Given the description of an element on the screen output the (x, y) to click on. 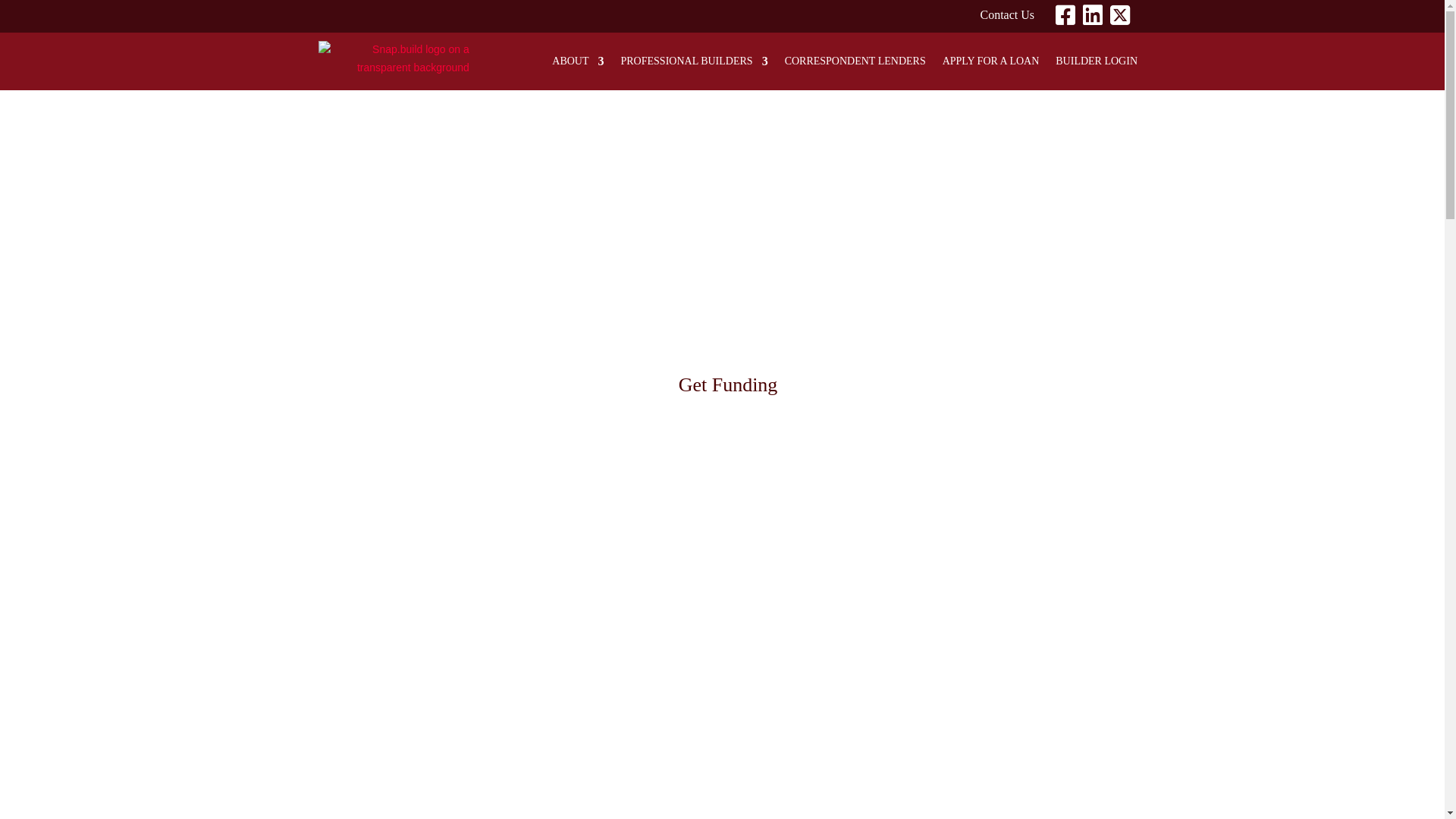
BUILDER LOGIN Element type: text (1096, 61)
CORRESPONDENT LENDERS Element type: text (854, 61)
ABOUT Element type: text (577, 61)
Twitter Element type: hover (1123, 19)
Facebook Element type: hover (1068, 19)
Contact Us Element type: text (1006, 17)
APPLY FOR A LOAN Element type: text (990, 61)
PROFESSIONAL BUILDERS Element type: text (693, 61)
Get Funding Element type: text (727, 384)
Linkedin Element type: hover (1096, 19)
